Given the description of an element on the screen output the (x, y) to click on. 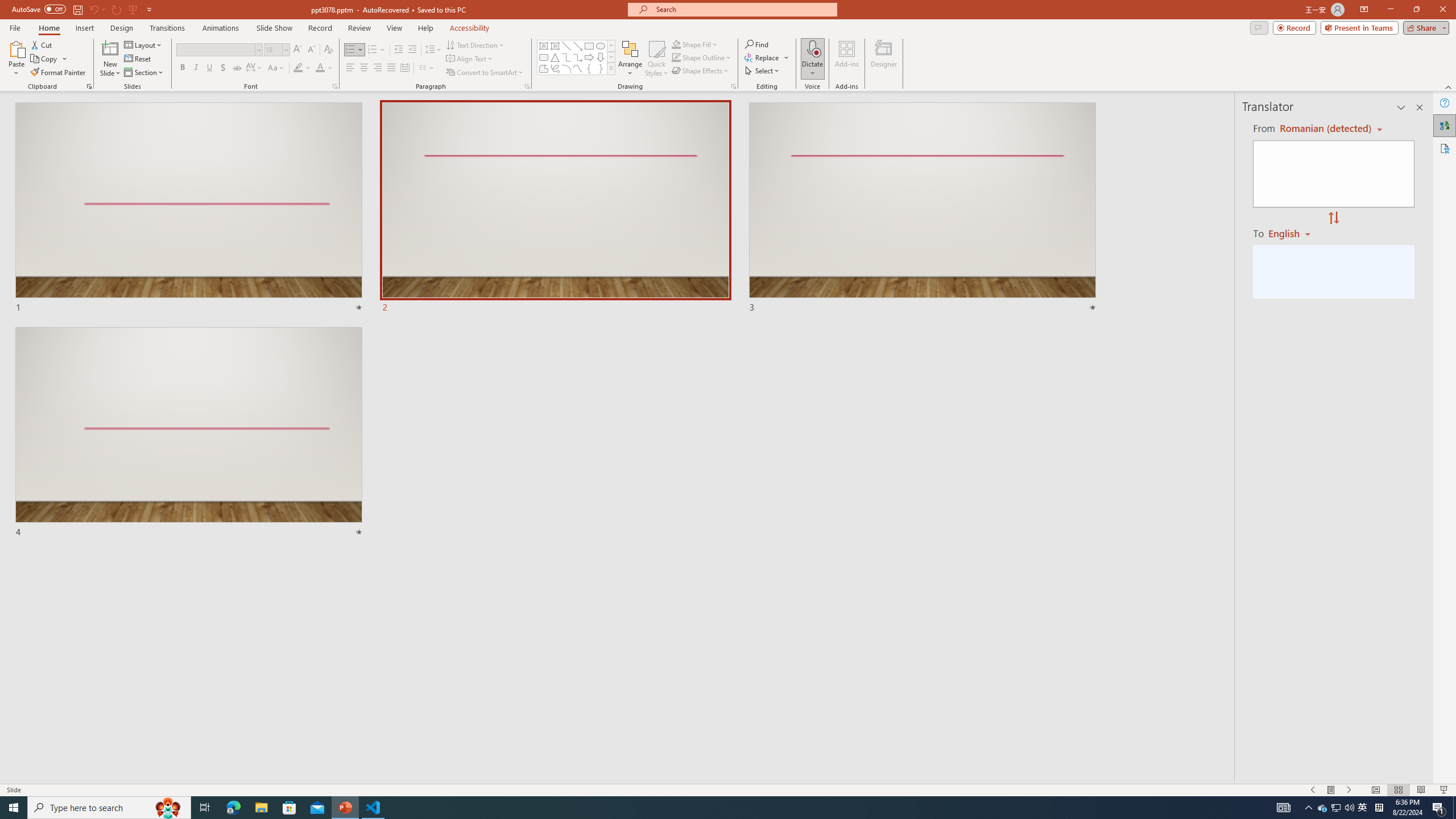
Menu On (1331, 790)
